Given the description of an element on the screen output the (x, y) to click on. 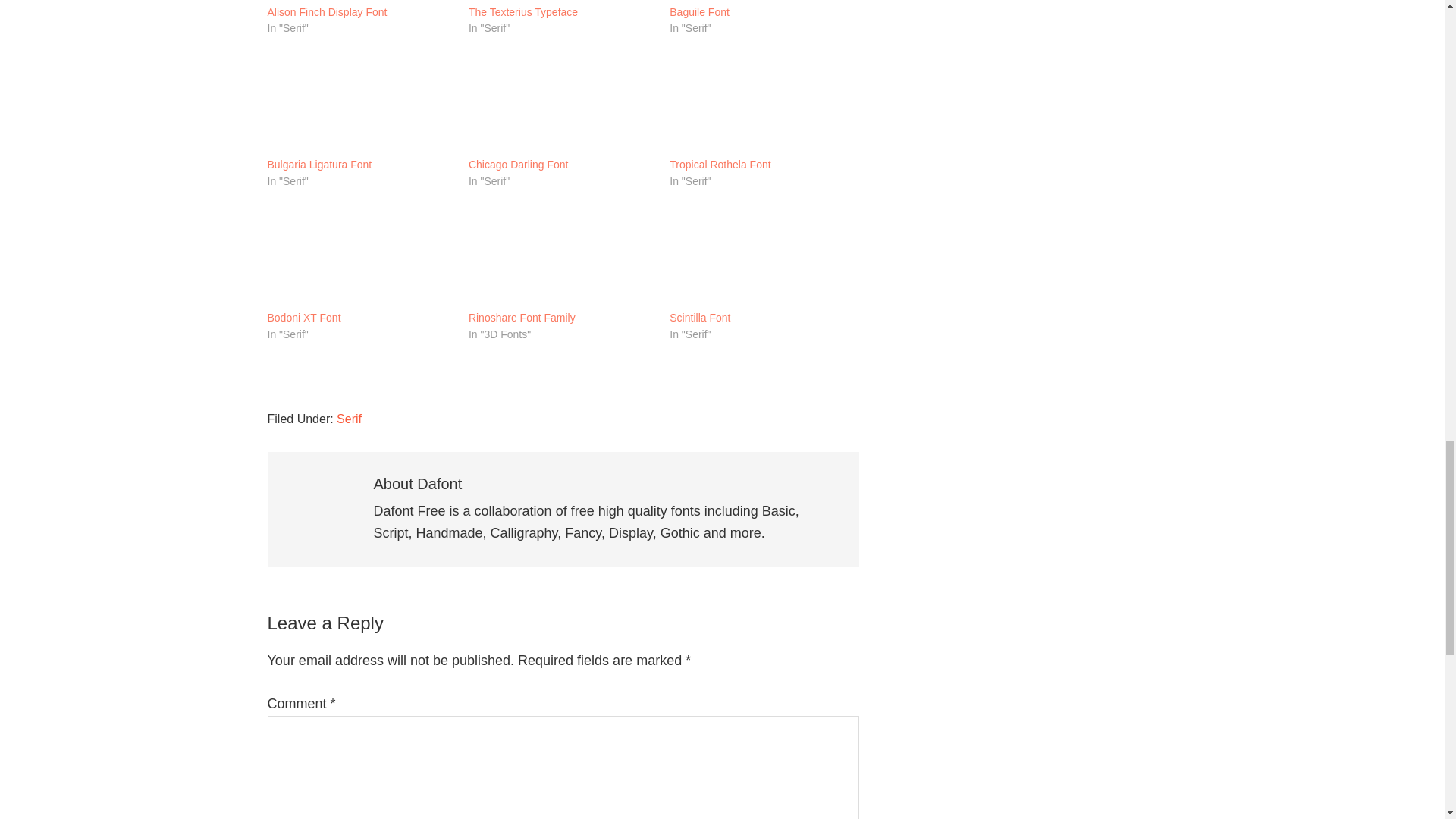
The Texterius Typeface (523, 12)
Chicago Darling Font (560, 102)
Rinoshare Font Family (560, 256)
Scintilla Font (762, 256)
Alison Finch Display Font (359, 1)
Tropical Rothela Font (762, 102)
Chicago Darling Font (518, 164)
Scintilla Font (699, 318)
Rinoshare Font Family (521, 318)
The Texterius Typeface (560, 1)
